Given the description of an element on the screen output the (x, y) to click on. 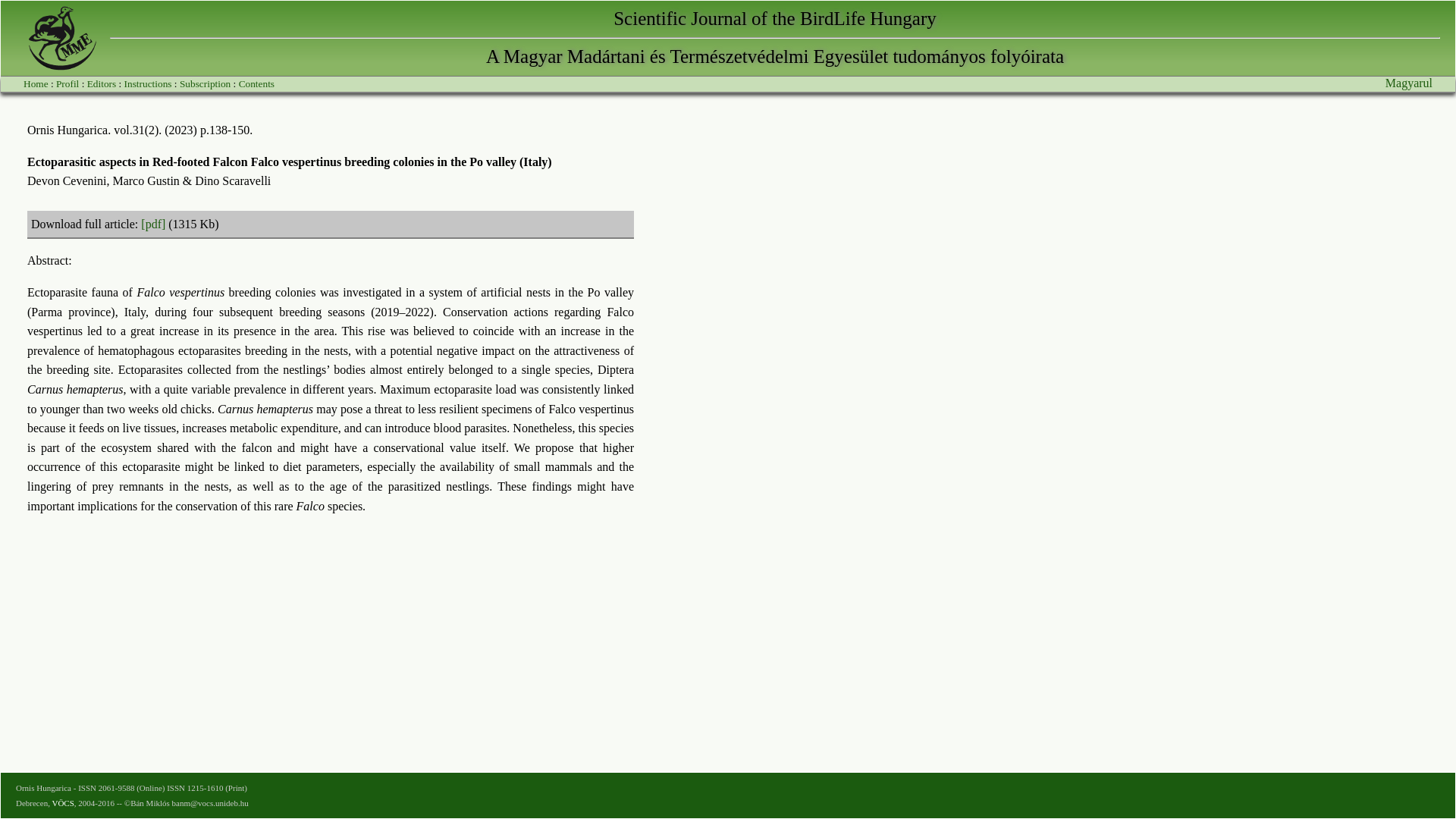
Subscription (204, 83)
Profil (67, 83)
Instructions (147, 83)
Contents (256, 83)
Editors (101, 83)
Magyarul (1409, 82)
Home (35, 83)
